Given the description of an element on the screen output the (x, y) to click on. 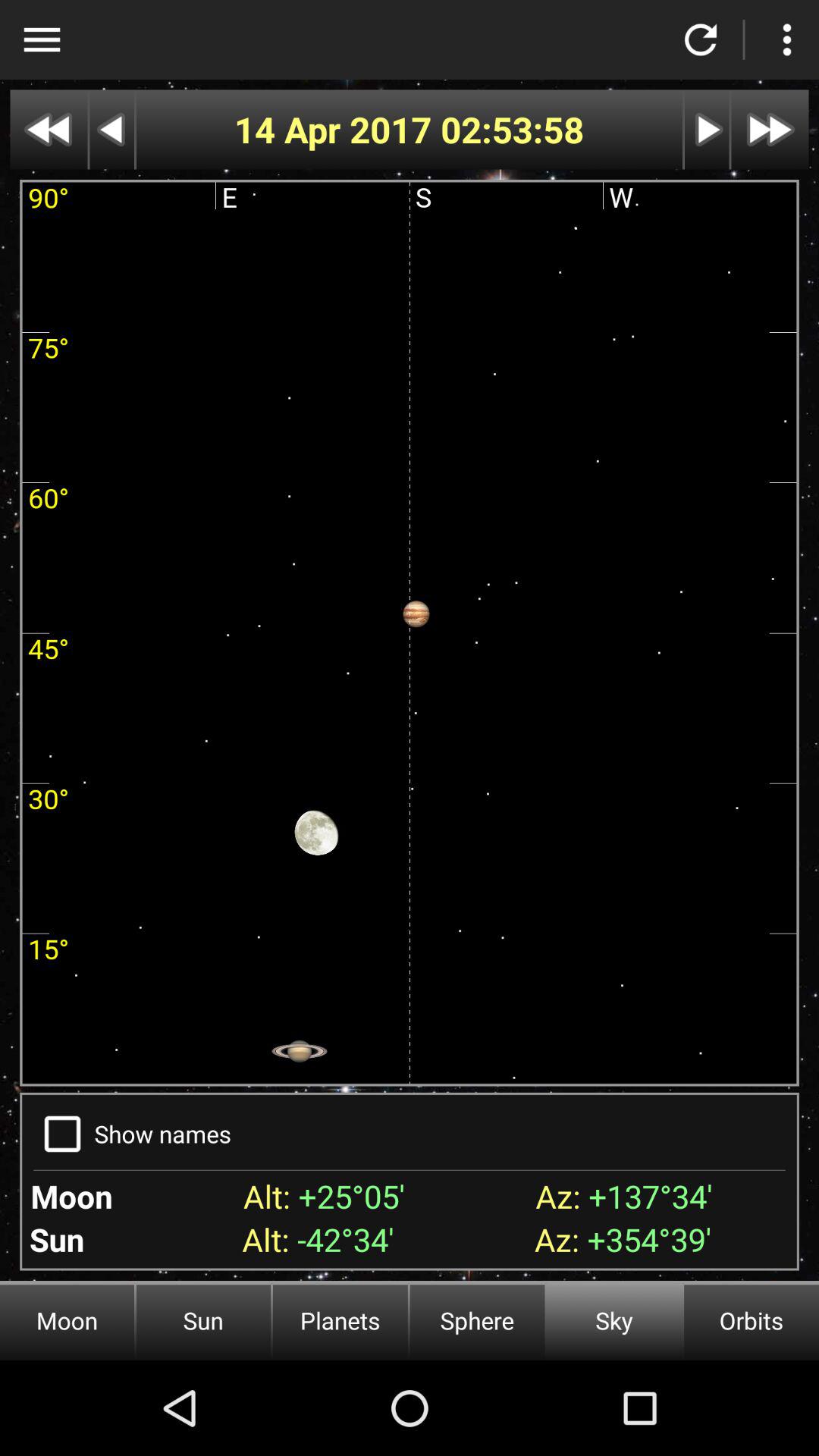
turn on 14 apr 2017  app (337, 129)
